Given the description of an element on the screen output the (x, y) to click on. 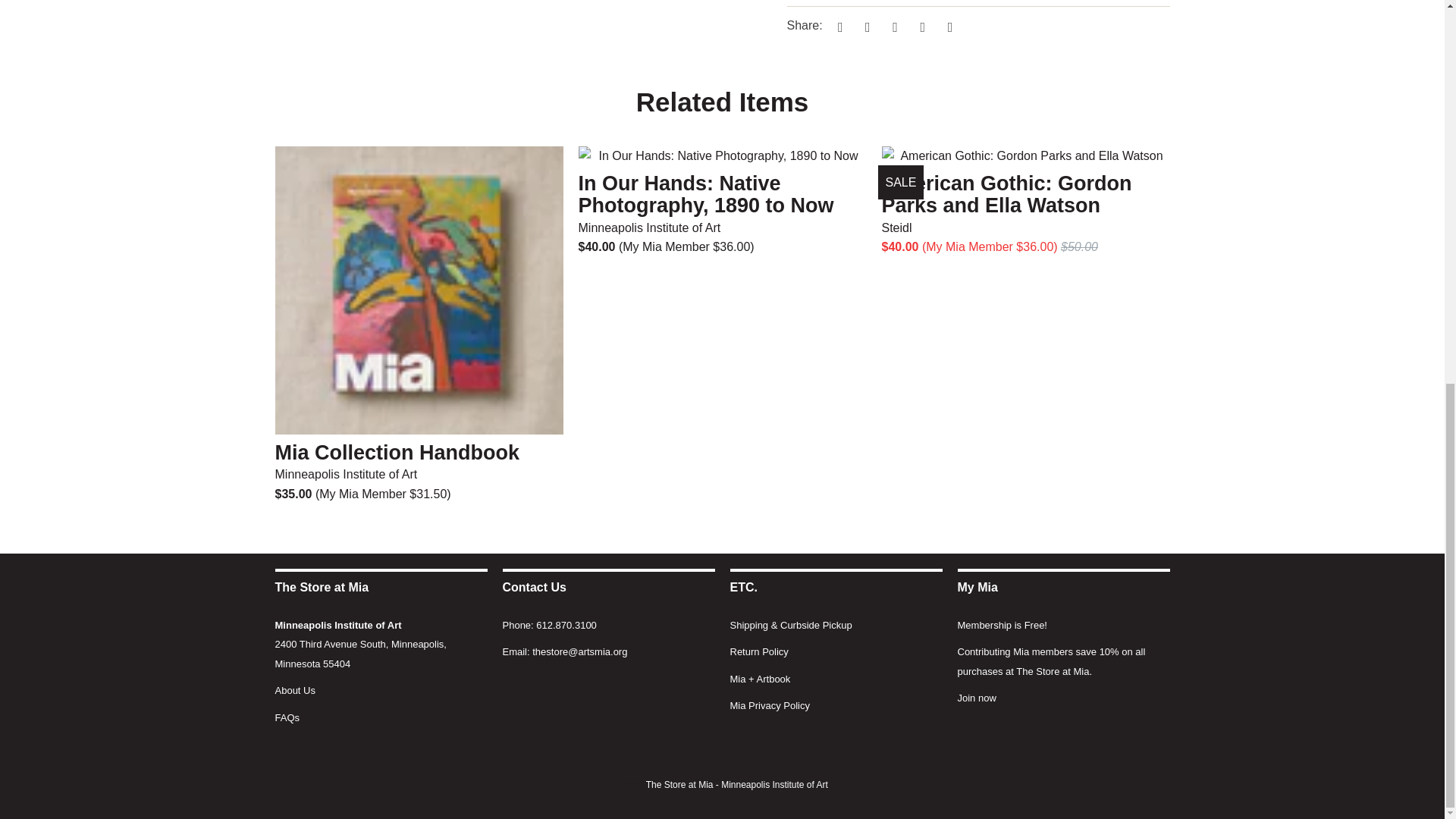
Return Policy (758, 651)
Share this on Pinterest (892, 26)
About (294, 690)
Email this to a friend (947, 26)
Share this on Facebook (865, 26)
Minneapolis Institute of Art (338, 624)
Share this on Twitter (837, 26)
Frequently Asked Questions (287, 717)
